Given the description of an element on the screen output the (x, y) to click on. 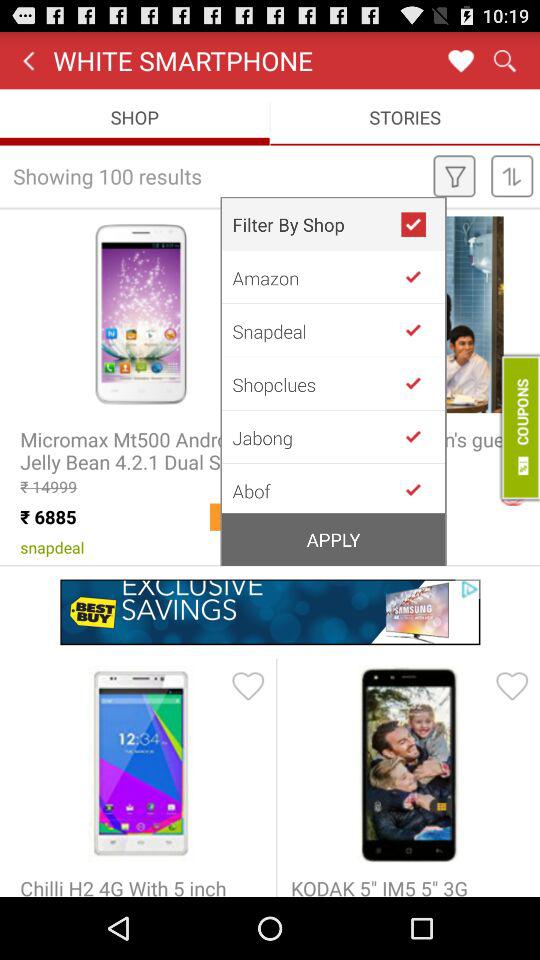
scroll to apply item (333, 539)
